Given the description of an element on the screen output the (x, y) to click on. 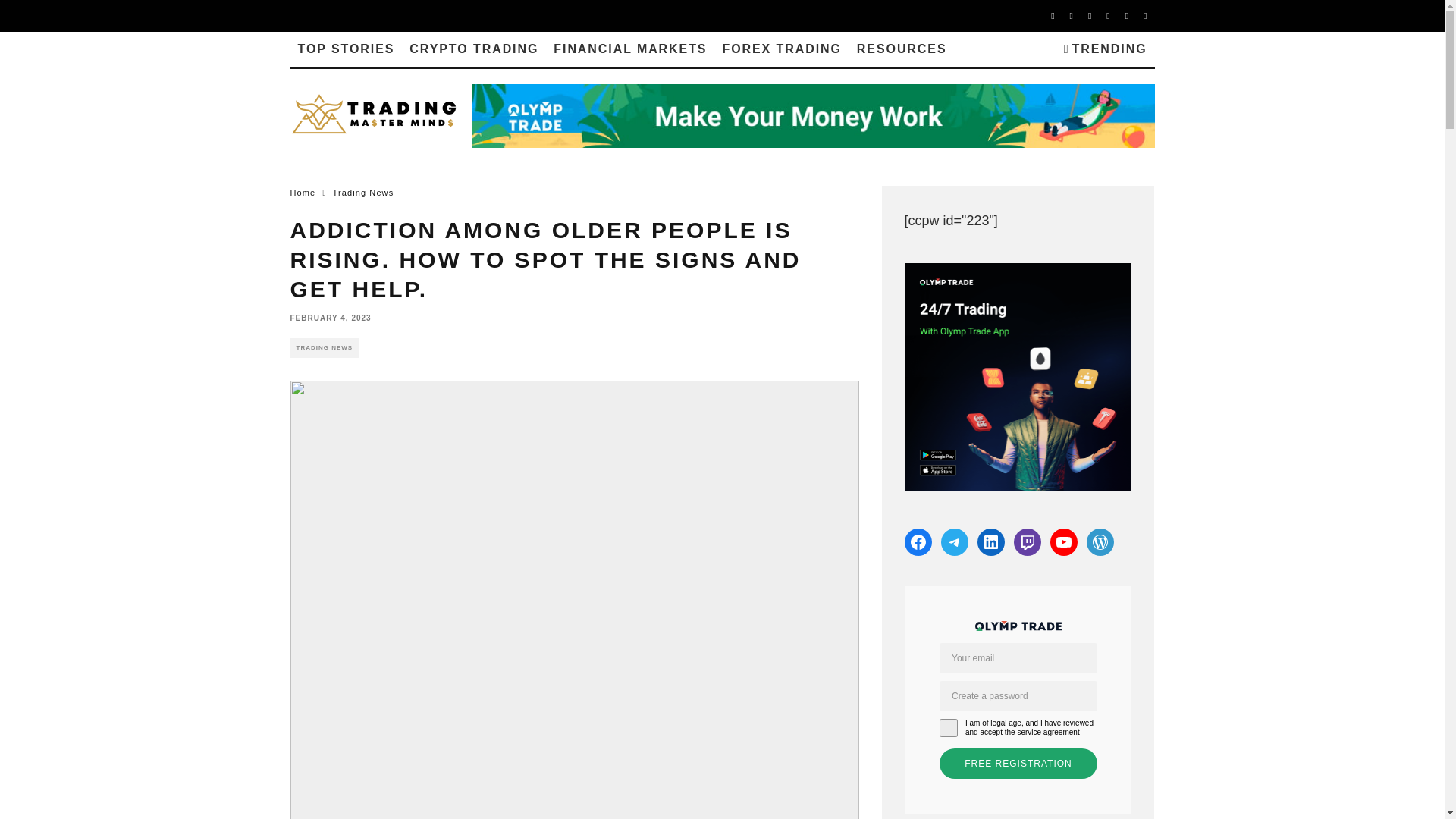
Trading News (363, 192)
TRENDING (1105, 48)
Home (302, 192)
TOP STORIES (345, 48)
FINANCIAL MARKETS (630, 48)
FOREX TRADING (781, 48)
CRYPTO TRADING (473, 48)
RESOURCES (901, 48)
